Given the description of an element on the screen output the (x, y) to click on. 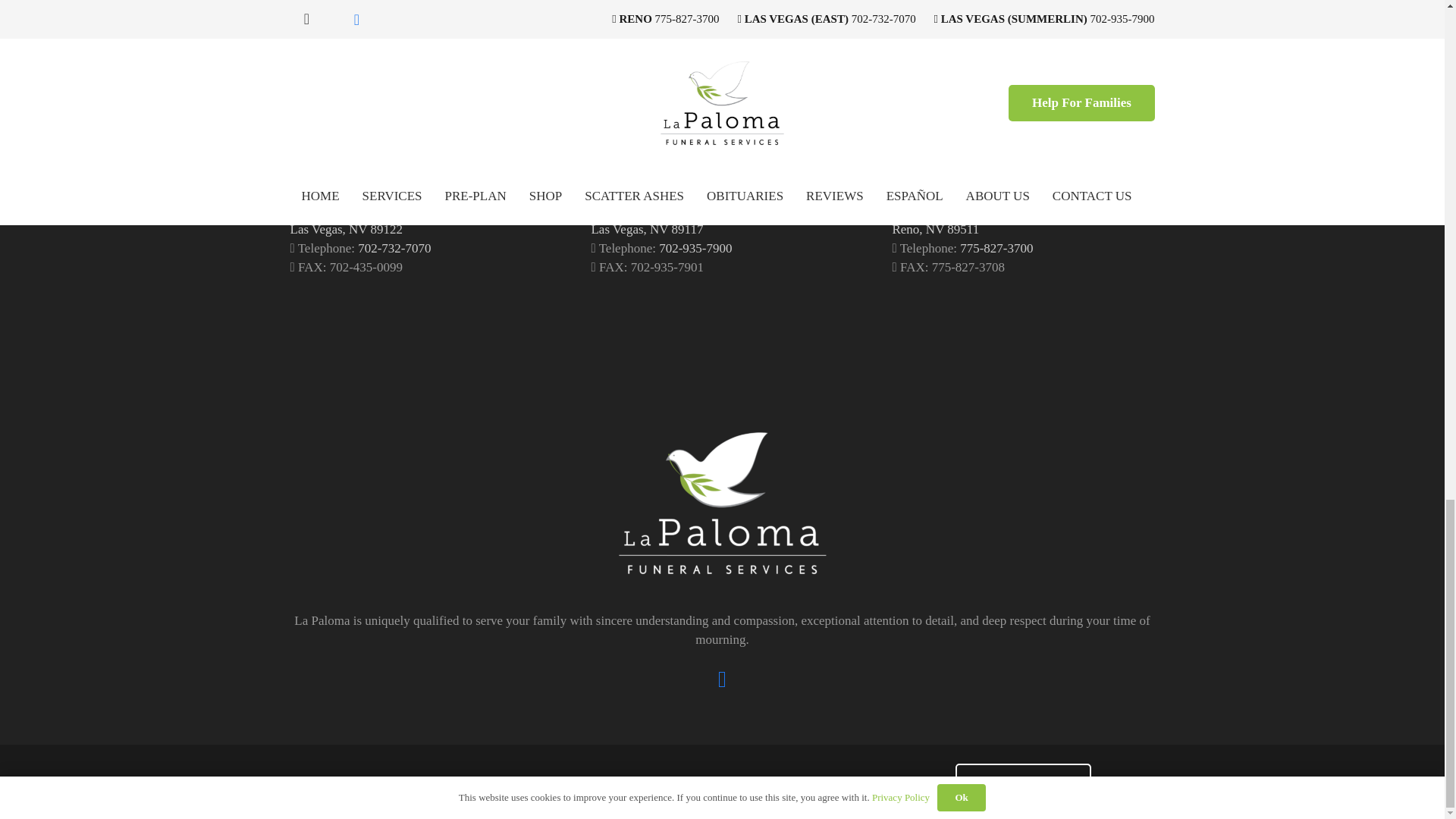
702-732-7070 (394, 247)
Employee Panel (346, 219)
775-827-3700 (1023, 781)
Employee Login (995, 247)
702-935-7900 (1023, 781)
775-827-3700 (655, 219)
702-732-7070 (695, 247)
